Given the description of an element on the screen output the (x, y) to click on. 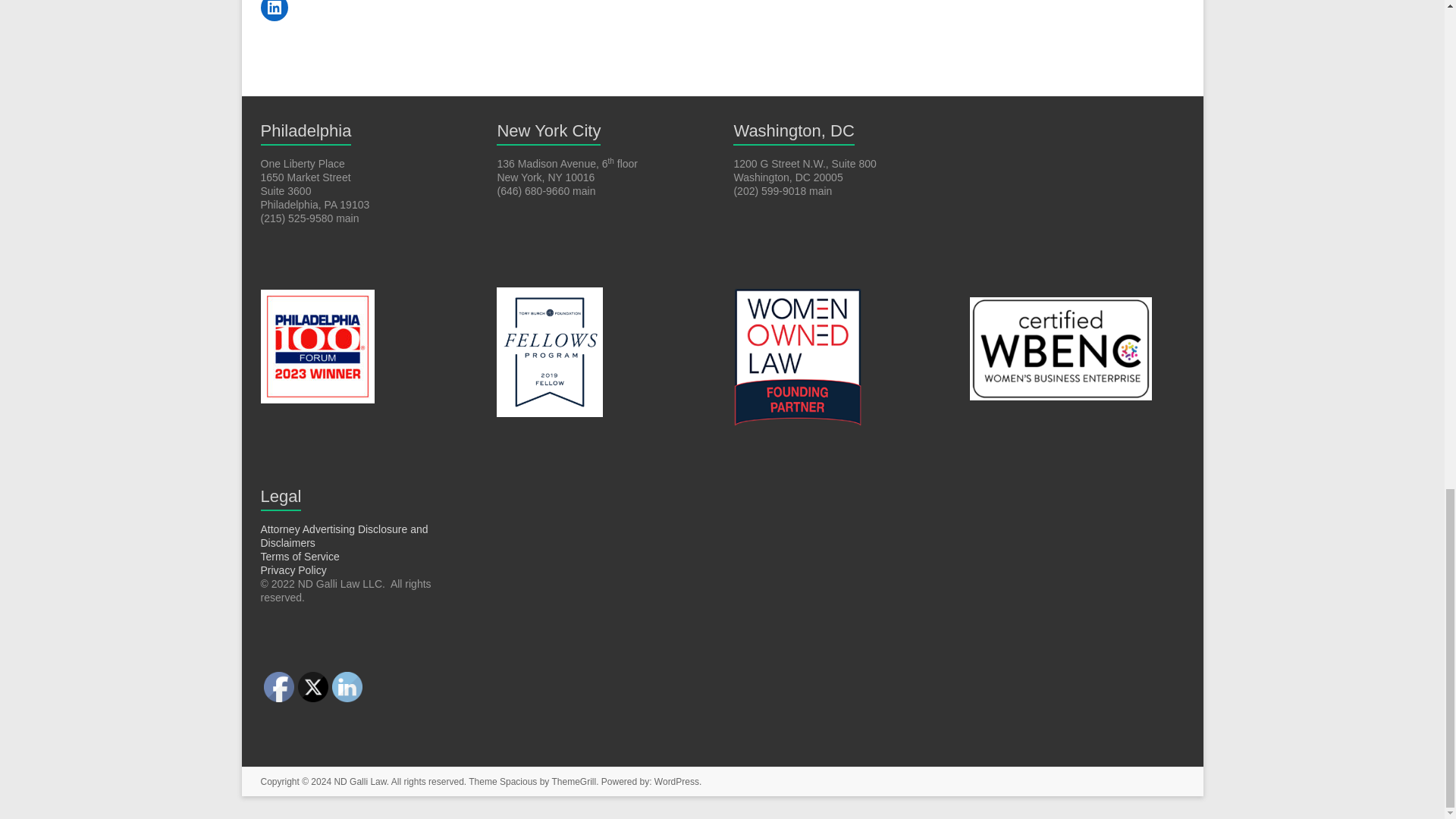
Terms of Service (299, 556)
WordPress (675, 781)
Facebook (278, 686)
Privacy Policy (293, 570)
Attorney Advertising Disclosure and Disclaimers (344, 535)
LinkedIn (274, 10)
LinkedIn (346, 686)
Spacious (518, 781)
Spacious (518, 781)
WordPress (675, 781)
